Given the description of an element on the screen output the (x, y) to click on. 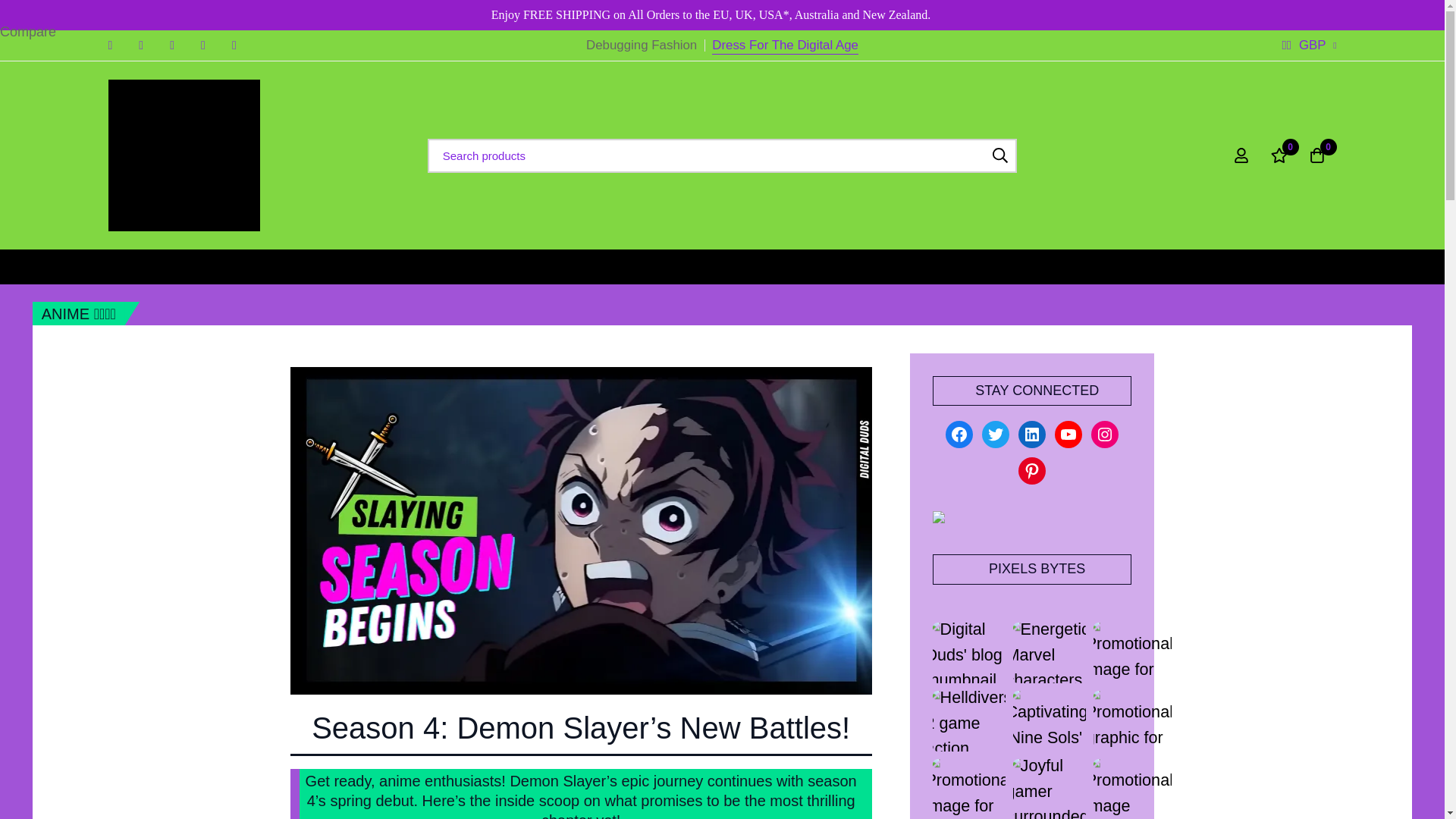
Search for: (722, 154)
0 (1279, 155)
Dress For The Digital Age (785, 45)
0 (1317, 155)
